Given the description of an element on the screen output the (x, y) to click on. 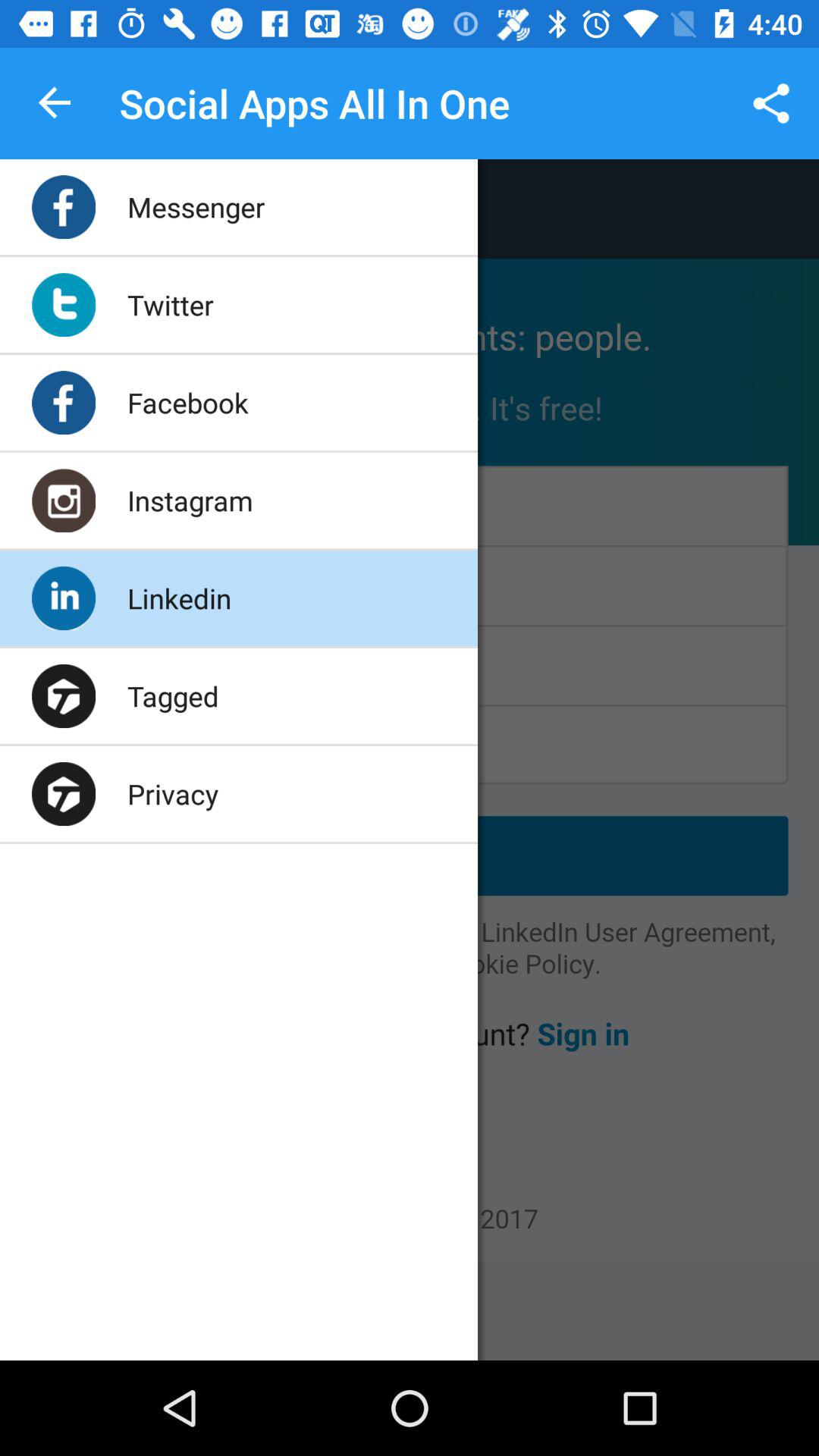
launch icon below messenger app (170, 304)
